Given the description of an element on the screen output the (x, y) to click on. 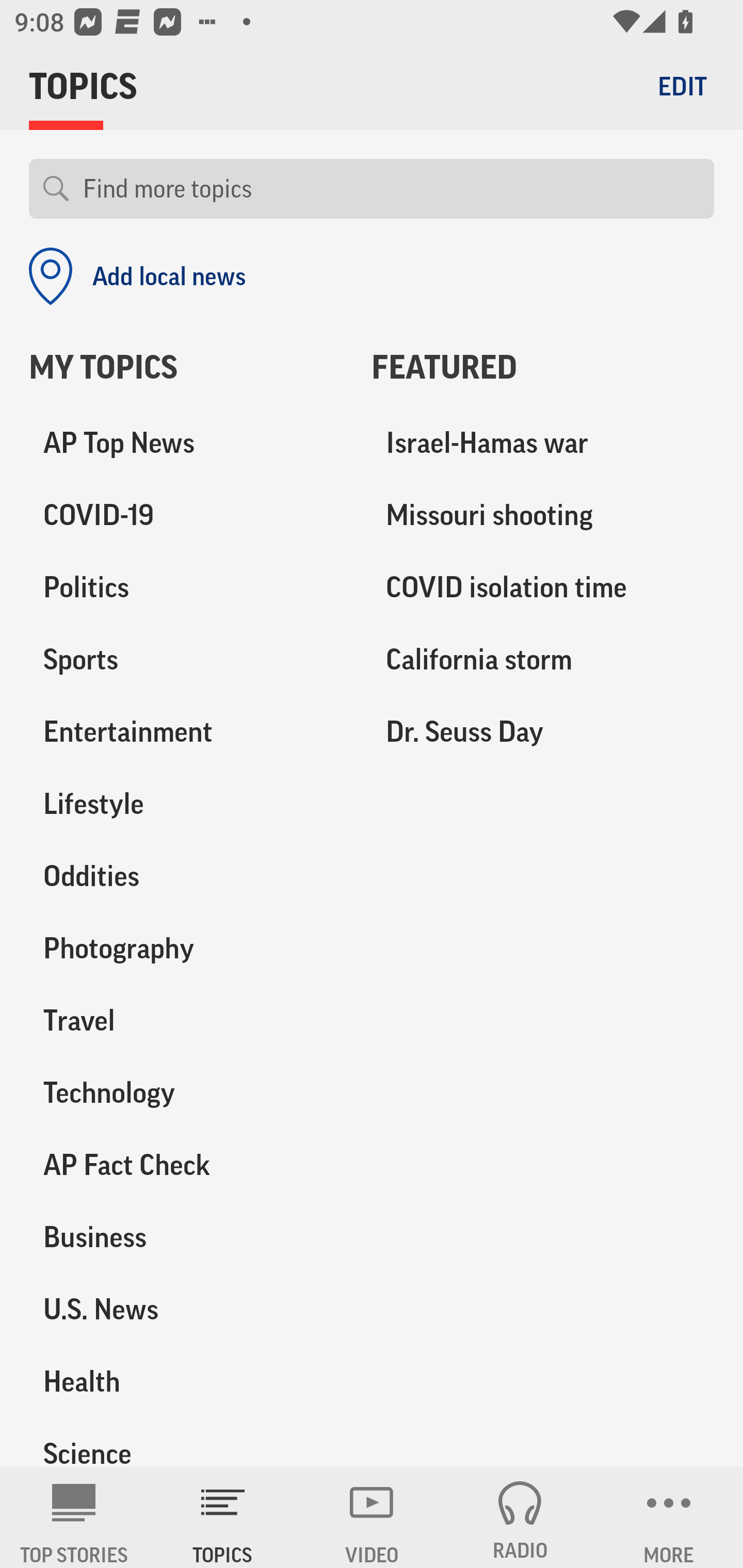
EDIT (682, 86)
Find more topics (391, 188)
Add local news (137, 276)
AP Top News (185, 443)
Israel-Hamas war (542, 443)
COVID-19 (185, 515)
Missouri shooting (542, 515)
Politics (185, 587)
COVID isolation time (542, 587)
Sports (185, 660)
California storm (542, 660)
Entertainment (185, 732)
Dr. Seuss Day (542, 732)
Lifestyle (185, 804)
Oddities (185, 876)
Photography (185, 948)
Travel (185, 1020)
Technology (185, 1092)
AP Fact Check (185, 1164)
Business (185, 1237)
U.S. News (185, 1309)
Health (185, 1381)
Science (185, 1442)
AP News TOP STORIES (74, 1517)
TOPICS (222, 1517)
VIDEO (371, 1517)
RADIO (519, 1517)
MORE (668, 1517)
